Given the description of an element on the screen output the (x, y) to click on. 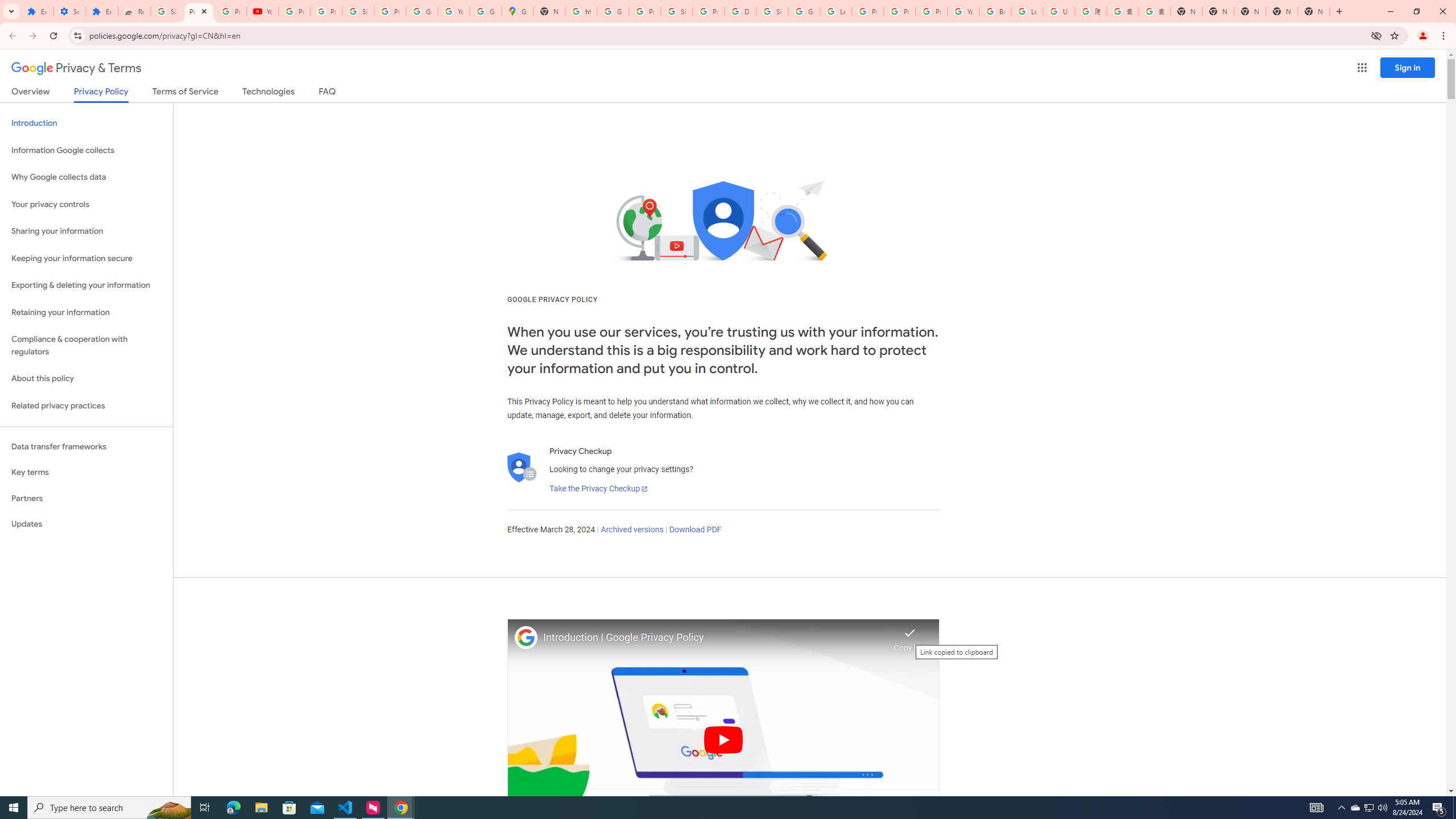
Extensions (37, 11)
Keeping your information secure (86, 258)
Google Maps (517, 11)
YouTube (262, 11)
Sign in - Google Accounts (166, 11)
Reviews: Helix Fruit Jump Arcade Game (134, 11)
Download PDF (695, 529)
